Given the description of an element on the screen output the (x, y) to click on. 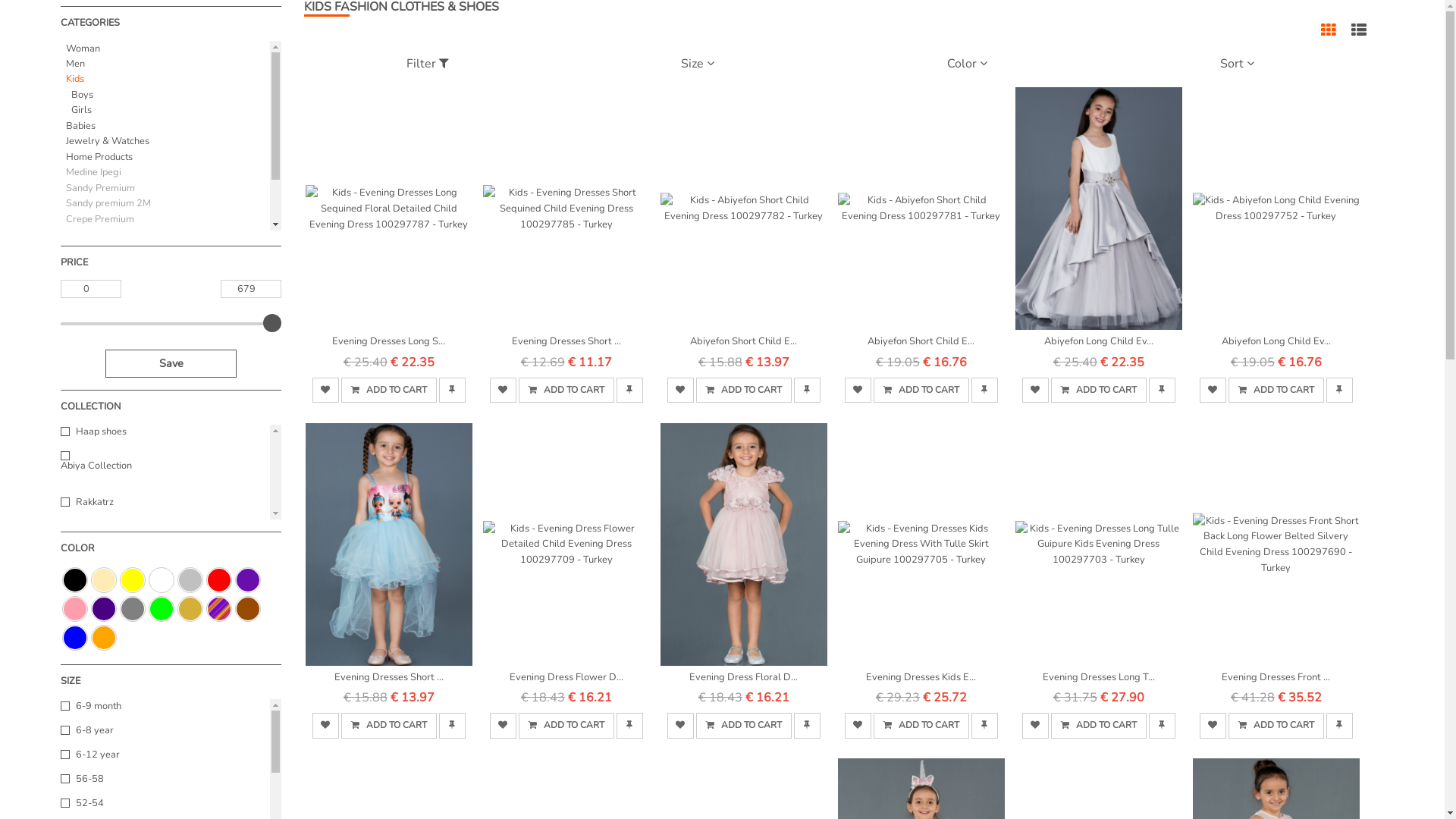
Pin Element type: hover (984, 389)
Grey Element type: hover (132, 608)
Pink Element type: hover (74, 608)
Abiyefon Short Child E... Element type: text (743, 217)
  ADD TO CART Element type: text (1098, 389)
Blue Element type: hover (74, 637)
Red Element type: hover (218, 579)
Evening Dresses Kids E... Element type: text (920, 553)
  ADD TO CART Element type: text (743, 389)
Beige Element type: hover (103, 579)
favorite Element type: hover (680, 724)
Pin Element type: hover (806, 389)
Pin Element type: hover (1161, 389)
Silver Element type: hover (189, 579)
Pin Element type: hover (452, 724)
Cagoule with Tie Element type: text (102, 250)
Pin Element type: hover (984, 724)
  ADD TO CART Element type: text (566, 389)
  ADD TO CART Element type: text (1276, 724)
Orange Element type: hover (103, 637)
Crepe Premium Element type: text (99, 218)
Pin Element type: hover (452, 389)
favorite Element type: hover (502, 389)
Bonnet With Tie Element type: text (100, 234)
favorite Element type: hover (680, 389)
Filter Element type: text (427, 64)
Pin Element type: hover (629, 389)
Cagoule Element type: text (83, 281)
favorite Element type: hover (857, 389)
favorite Element type: hover (325, 724)
Brown Element type: hover (247, 608)
  ADD TO CART Element type: text (743, 724)
Sandy Premium Element type: text (99, 187)
Girls Element type: text (169, 109)
Pin Element type: hover (1339, 724)
Woman Element type: text (166, 48)
Gold Element type: hover (189, 608)
  ADD TO CART Element type: text (1276, 389)
favorite Element type: hover (1035, 724)
  ADD TO CART Element type: text (388, 724)
Evening Dress Floral D... Element type: text (743, 553)
Medine Ipegi Element type: text (92, 171)
Grid view Element type: hover (1328, 32)
Evening Dresses Long S... Element type: text (388, 217)
Kids - Abiyefon Short Child Evening Dress 100297782 - Turkey Element type: hover (743, 208)
List view Element type: hover (1358, 32)
Evening Dress Flower D... Element type: text (566, 553)
Evening Dresses Short ... Element type: text (388, 553)
Jewelry & Watches Element type: text (166, 140)
Babies Element type: text (166, 125)
Home Products Element type: text (166, 156)
favorite Element type: hover (1212, 724)
Green Element type: hover (161, 608)
Pin Element type: hover (806, 724)
White Element type: hover (161, 579)
Yellow Element type: hover (132, 579)
Pin Element type: hover (1161, 724)
favorite Element type: hover (502, 724)
favorite Element type: hover (1212, 389)
  ADD TO CART Element type: text (566, 724)
Sandy premium 2M Element type: text (107, 203)
Kids - Abiyefon Short Child Evening Dress 100297781 - Turkey Element type: hover (920, 208)
Boys Element type: text (169, 94)
Abiyefon Short Child E... Element type: text (920, 217)
Pin Element type: hover (629, 724)
  ADD TO CART Element type: text (921, 389)
Save Element type: text (170, 363)
favorite Element type: hover (1035, 389)
  ADD TO CART Element type: text (388, 389)
  ADD TO CART Element type: text (1098, 724)
Kids - Abiyefon Long Child Evening Dress 100297752 - Turkey Element type: hover (1275, 208)
Abiyefon Long Child Ev... Element type: text (1098, 217)
Size Element type: text (697, 64)
Evening Dresses Long T... Element type: text (1098, 553)
  ADD TO CART Element type: text (921, 724)
favorite Element type: hover (325, 389)
Colorful Element type: hover (218, 608)
Medine Ipegi Shawl Element type: text (107, 265)
favorite Element type: hover (857, 724)
Black Element type: hover (74, 579)
Indigo Element type: hover (103, 608)
Evening Dresses Front ... Element type: text (1275, 553)
Pin Element type: hover (1339, 389)
Abiyefon Long Child Ev... Element type: text (1275, 217)
Men Element type: text (166, 63)
Kids - Abiyefon Long Child Evening Dress 100297765 - Turkey Element type: hover (1098, 208)
Evening Dresses Short ... Element type: text (566, 217)
Kids Element type: text (166, 78)
Color Element type: text (967, 64)
Purple Element type: hover (247, 579)
Sort Element type: text (1237, 64)
